Given the description of an element on the screen output the (x, y) to click on. 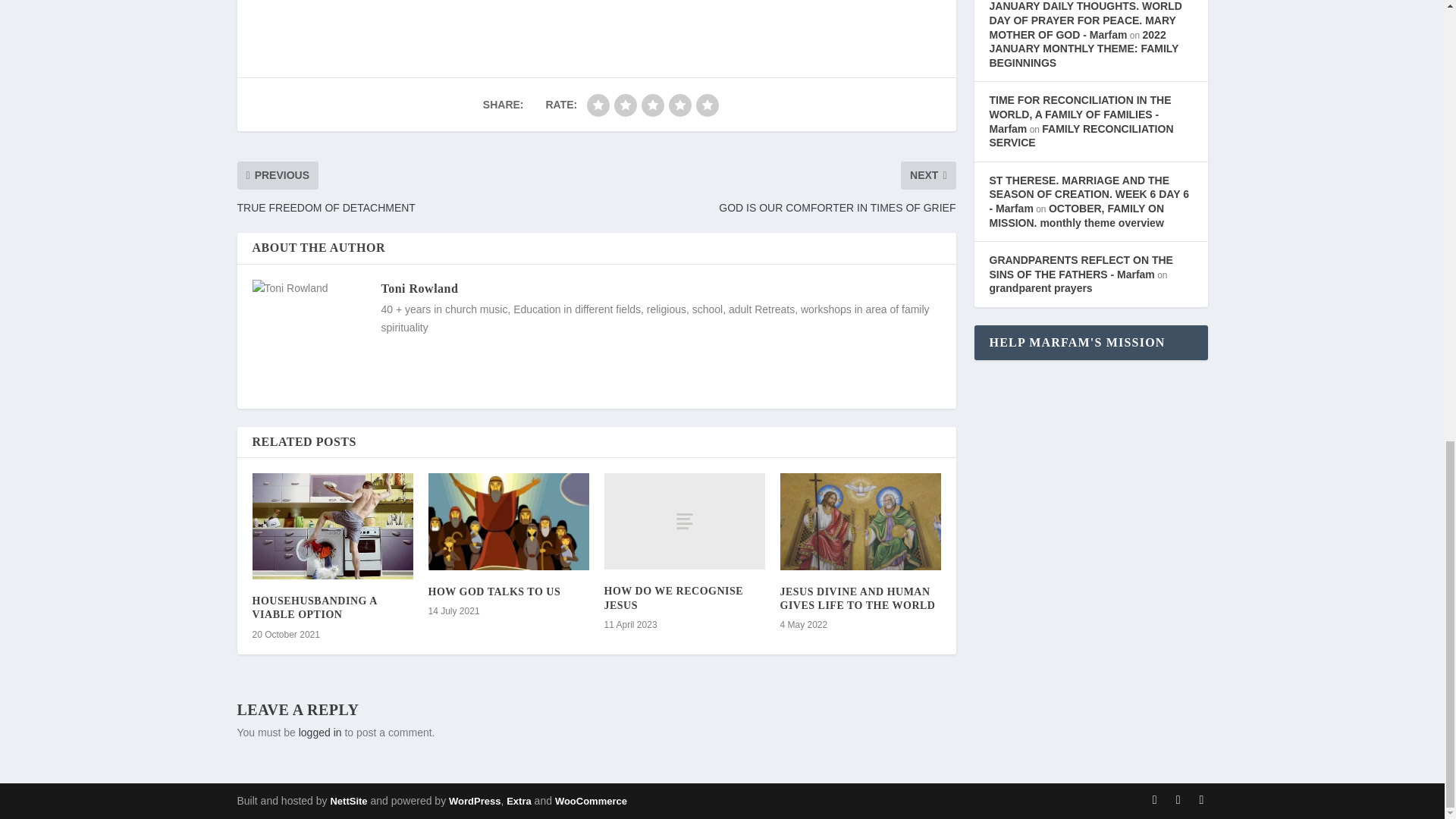
regular (652, 105)
Toni Rowland (419, 287)
poor (625, 105)
bad (598, 105)
good (679, 105)
HOUSEHUSBANDING A VIABLE OPTION (313, 607)
gorgeous (707, 105)
